Given the description of an element on the screen output the (x, y) to click on. 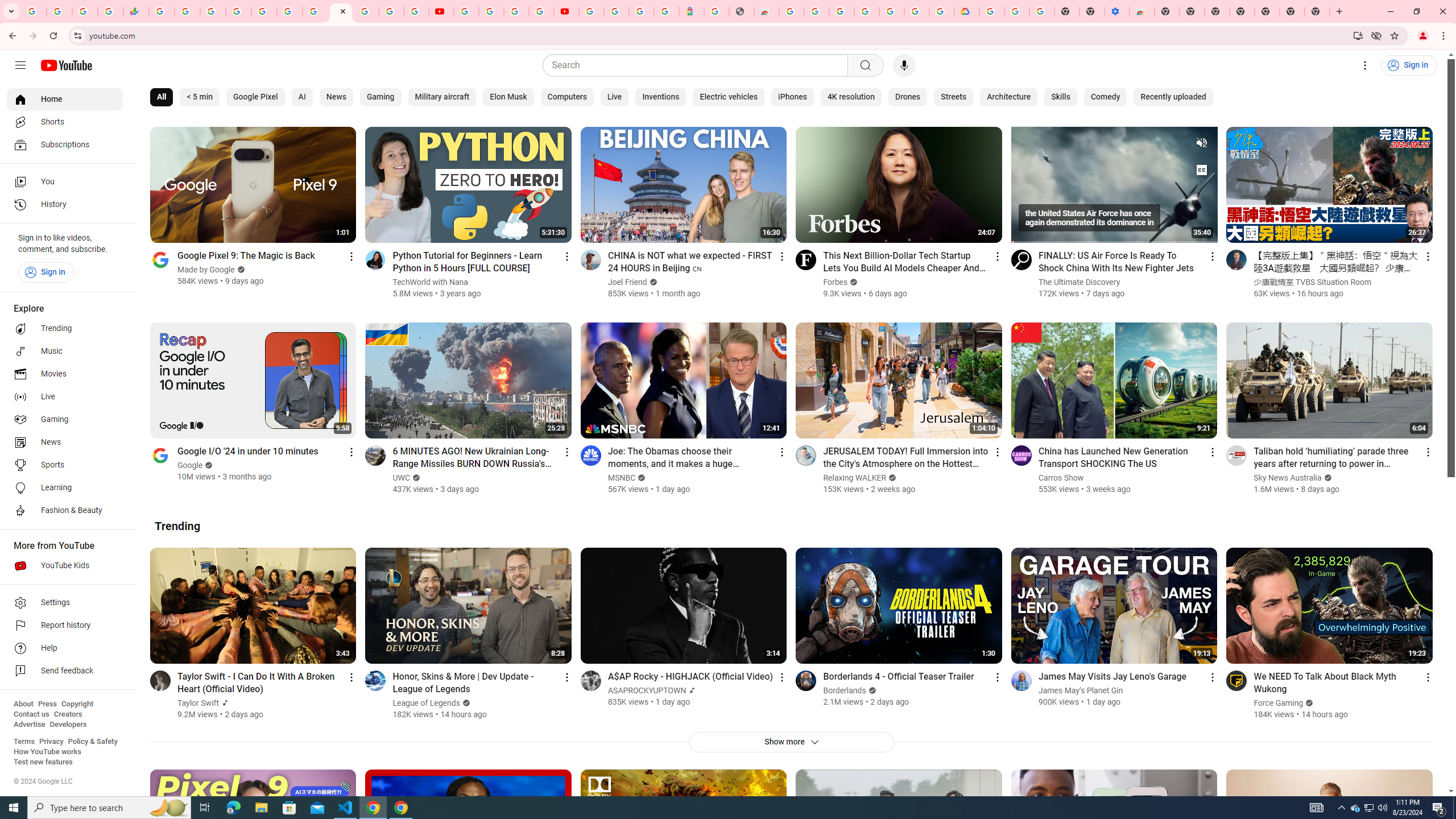
Advertise (29, 724)
Sign in - Google Accounts (916, 11)
Seek slider (1113, 238)
Ad Settings (816, 11)
Skills (1060, 97)
Atour Hotel - Google hotels (691, 11)
